Given the description of an element on the screen output the (x, y) to click on. 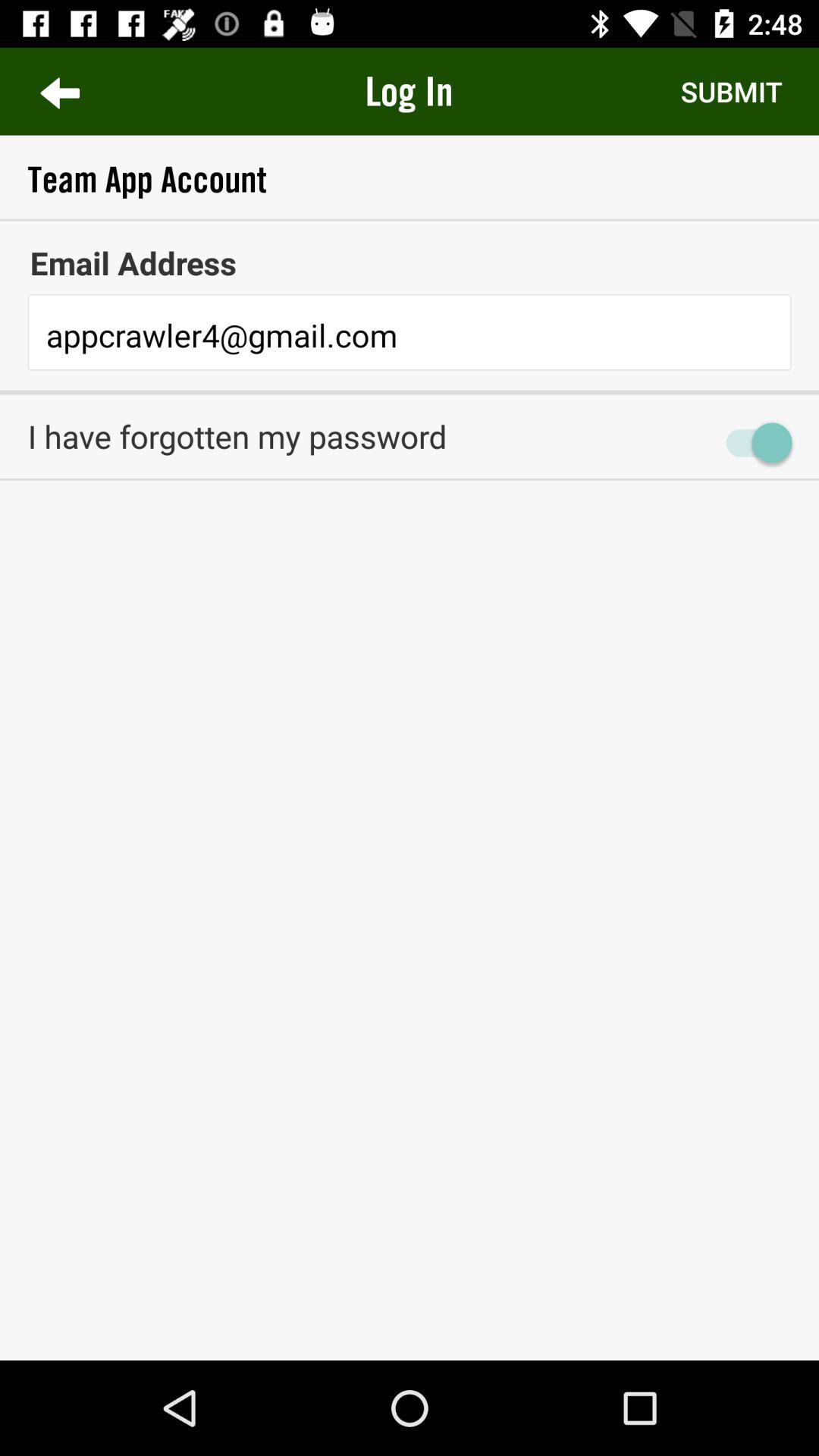
choose the icon at the center (409, 508)
